Given the description of an element on the screen output the (x, y) to click on. 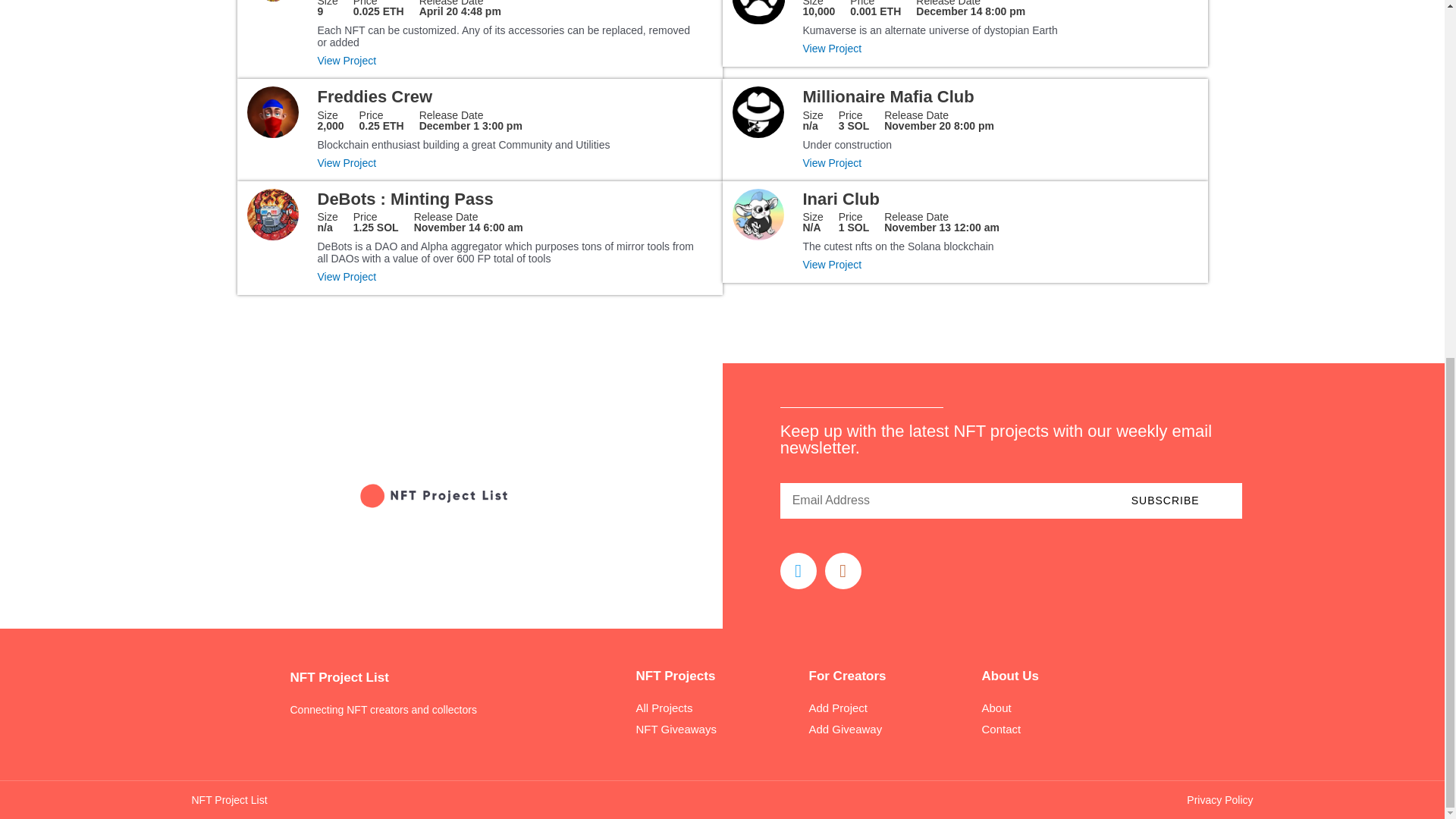
View Project (875, 8)
Freddies Crew (509, 162)
View Project (374, 96)
Millionaire Mafia Club (509, 60)
View Project (888, 96)
